Given the description of an element on the screen output the (x, y) to click on. 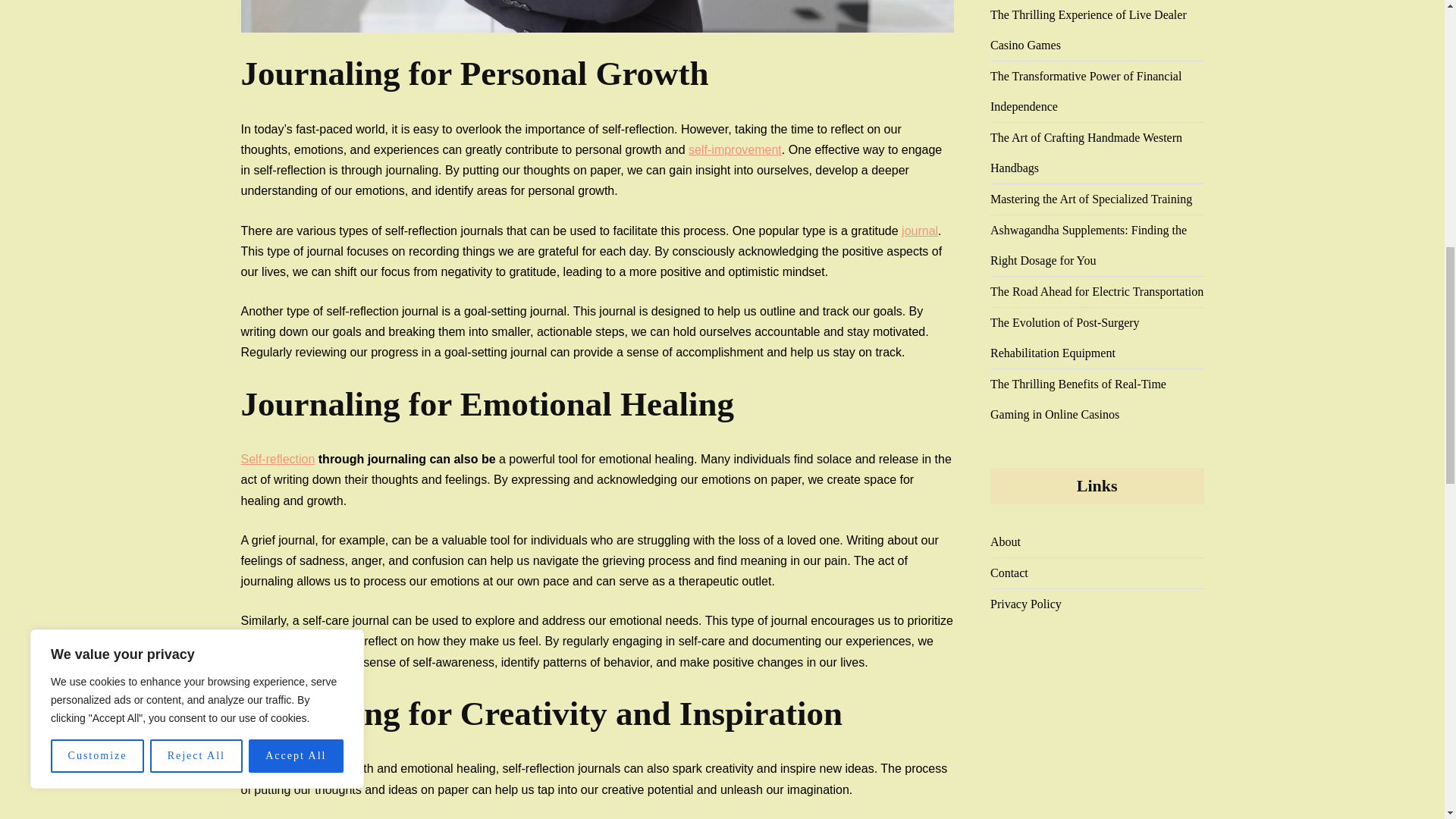
journal (919, 230)
Self-reflection (278, 459)
self-improvement (734, 149)
